Given the description of an element on the screen output the (x, y) to click on. 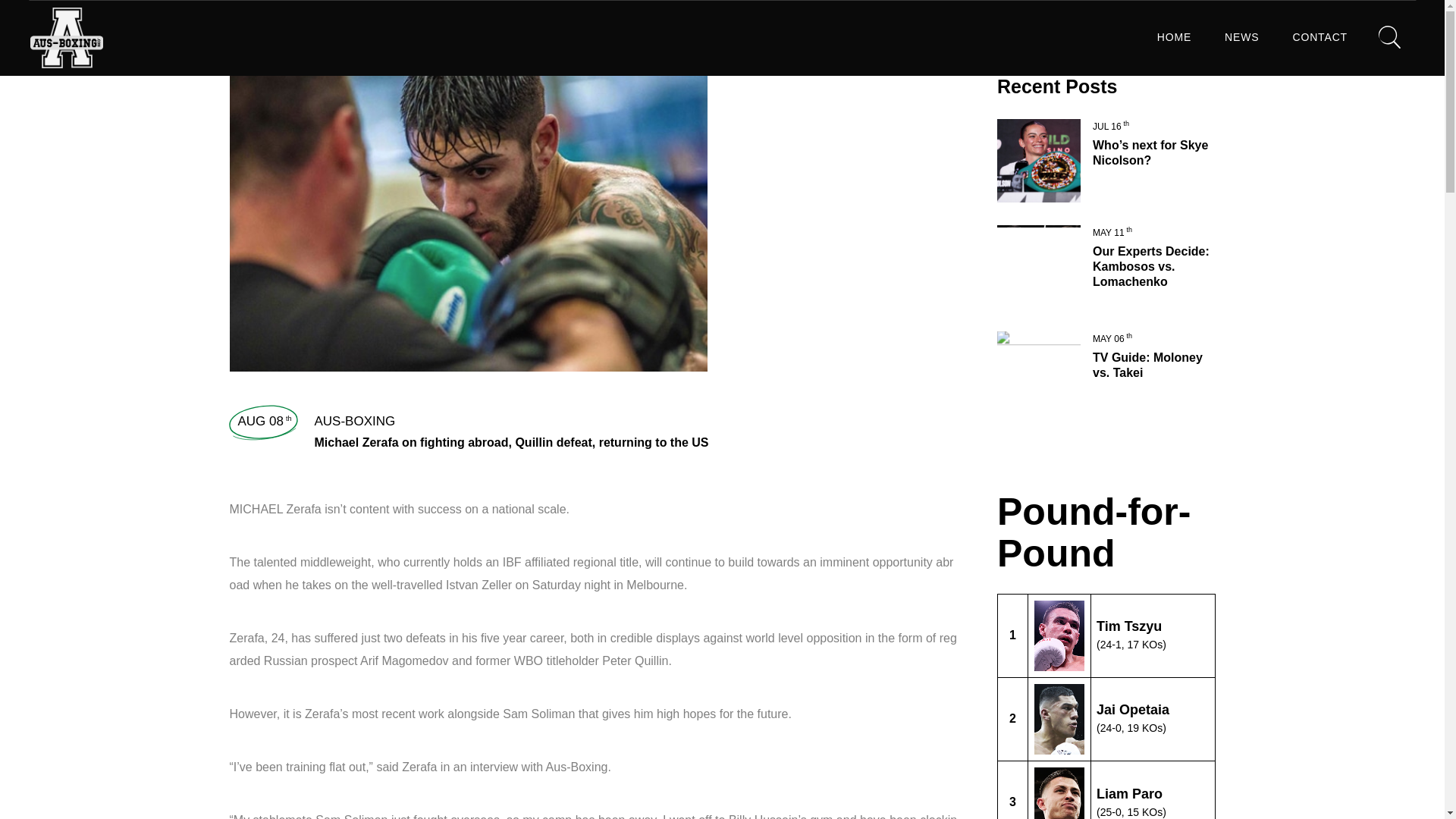
JUL 16th (1111, 126)
MAY 11th (1112, 232)
AUG 08th (265, 421)
Our Experts Decide: Kambosos vs. Lomachenko (1151, 266)
AUS-BOXING (354, 421)
TV Guide: Moloney vs. Takei (1147, 365)
MAY 06th (1112, 338)
